Given the description of an element on the screen output the (x, y) to click on. 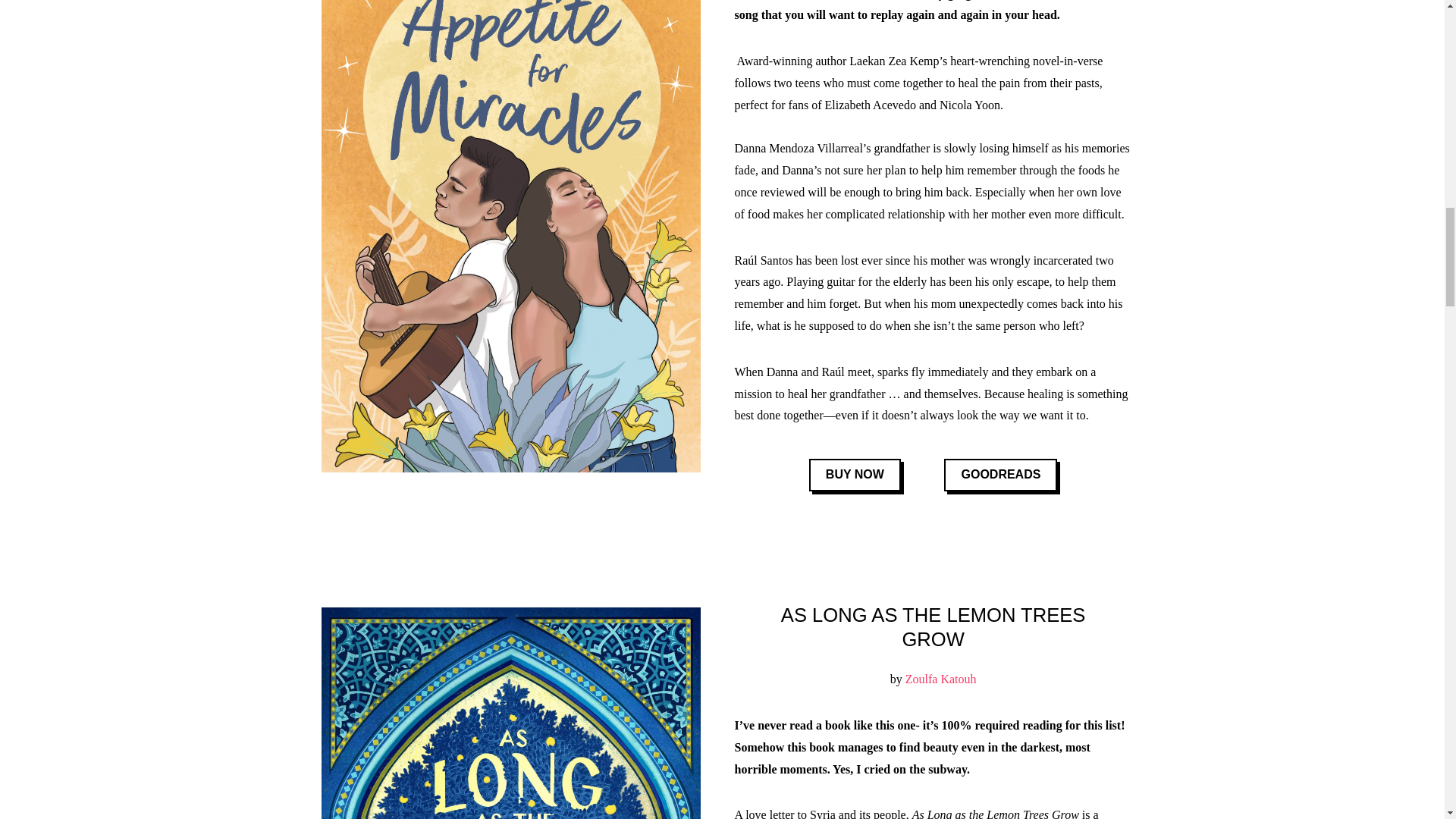
Zoulfa Katouh (940, 678)
GOODREADS (1000, 474)
BUY NOW (855, 474)
